Given the description of an element on the screen output the (x, y) to click on. 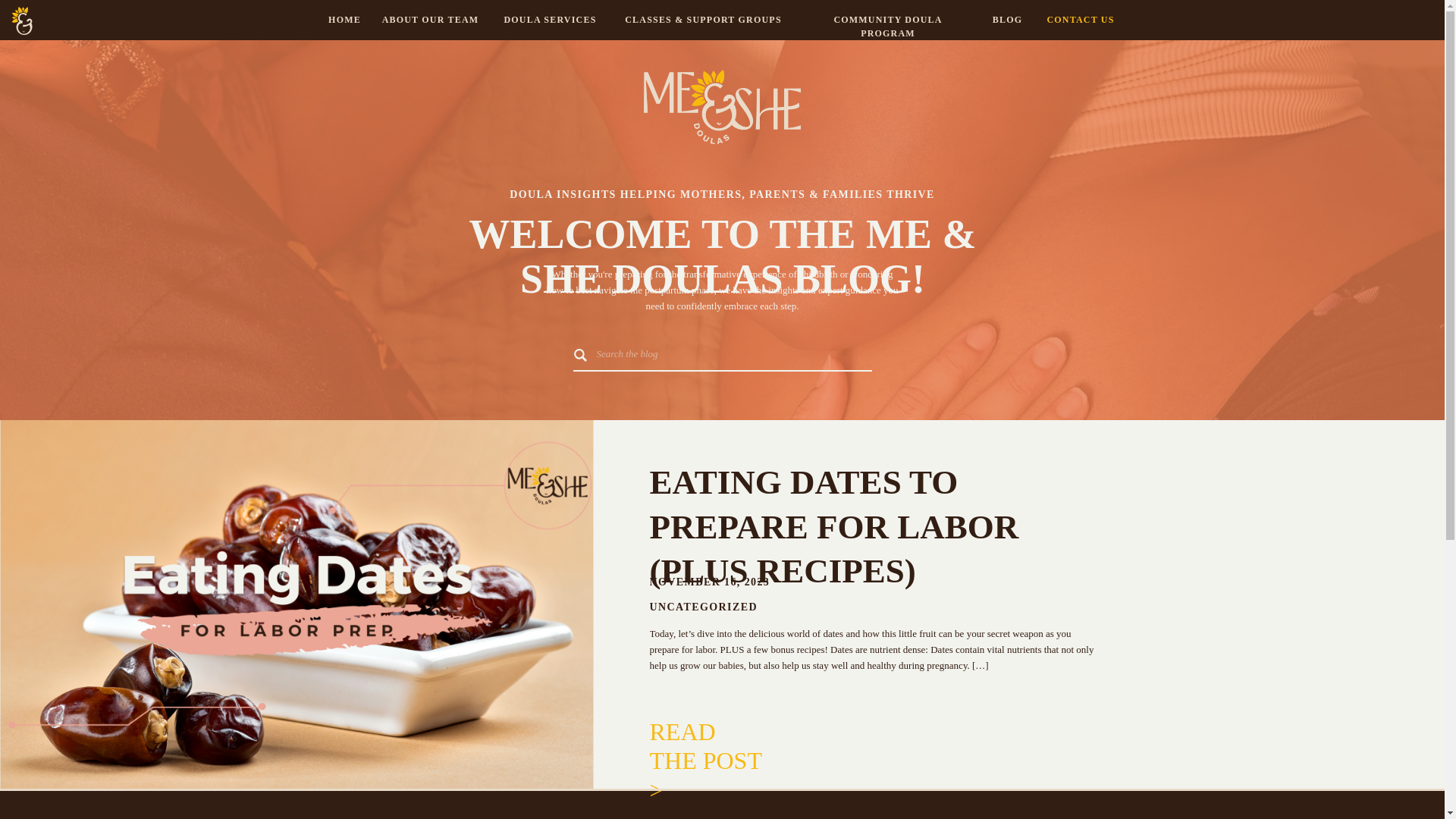
ABOUT OUR TEAM (430, 20)
UNCATEGORIZED (703, 606)
COMMUNITY DOULA PROGRAM (887, 20)
DOULA SERVICES (549, 20)
BLOG (1006, 20)
HOME (344, 20)
CONTACT US (1079, 20)
